Given the description of an element on the screen output the (x, y) to click on. 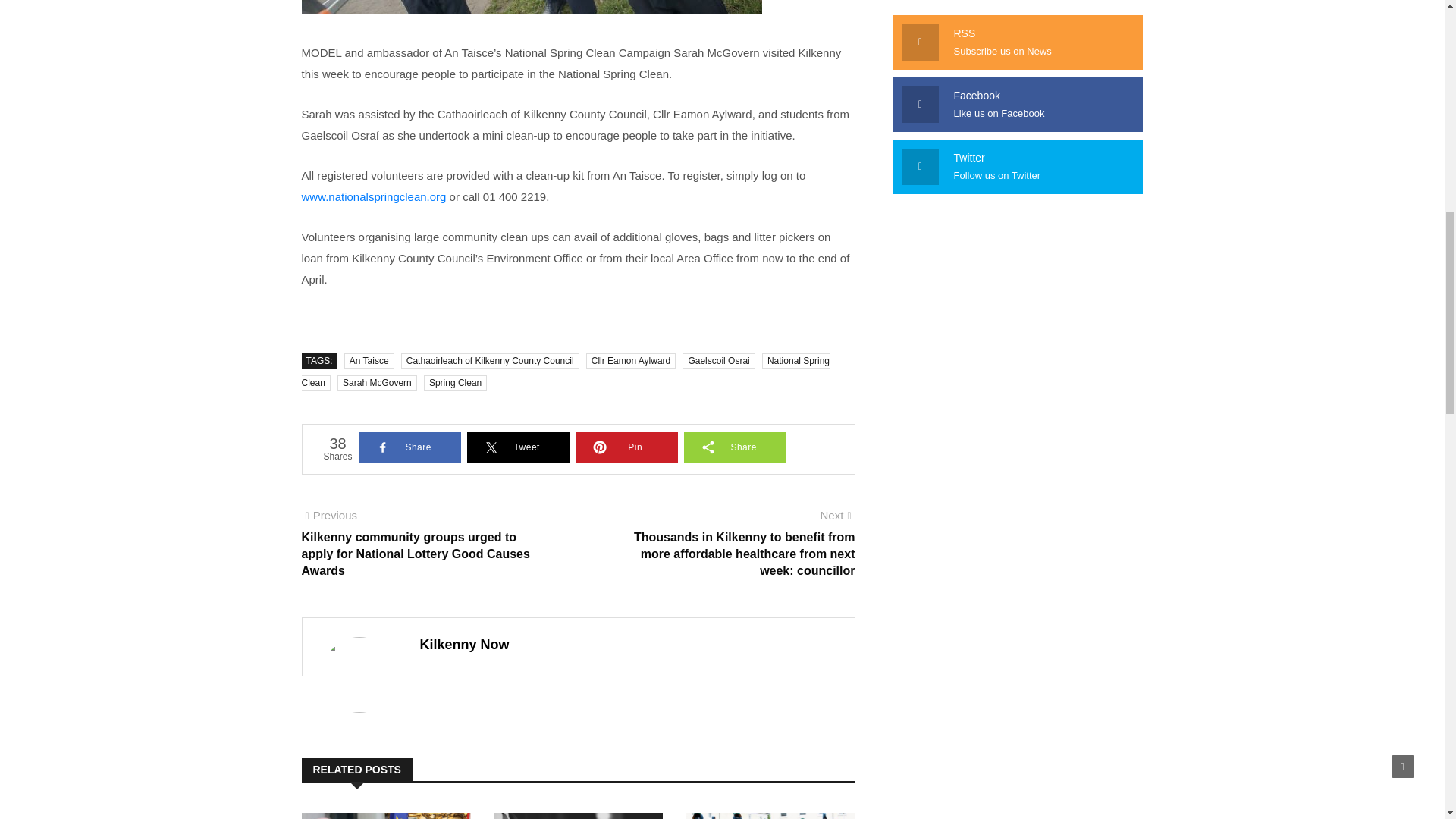
Gaelscoil Osrai (718, 360)
Posts by Kilkenny Now (464, 644)
Cathaoirleach of Kilkenny County Council (490, 360)
Kilkenny Now (464, 644)
National Spring Clean (565, 371)
Spring Clean (454, 382)
An Taisce (368, 360)
www.nationalspringclean.org (373, 196)
Cllr Eamon Aylward (630, 360)
Sarah McGovern (376, 382)
